Given the description of an element on the screen output the (x, y) to click on. 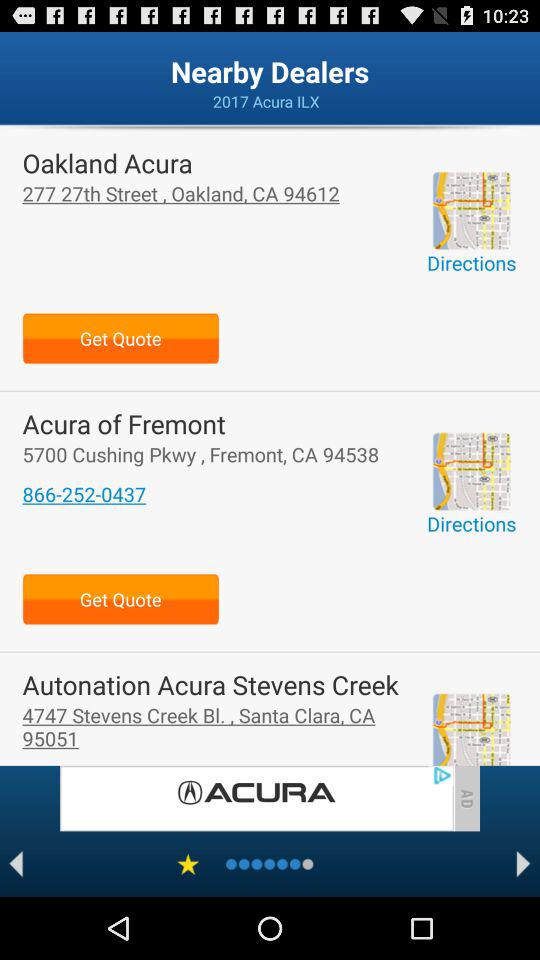
open map (471, 471)
